Given the description of an element on the screen output the (x, y) to click on. 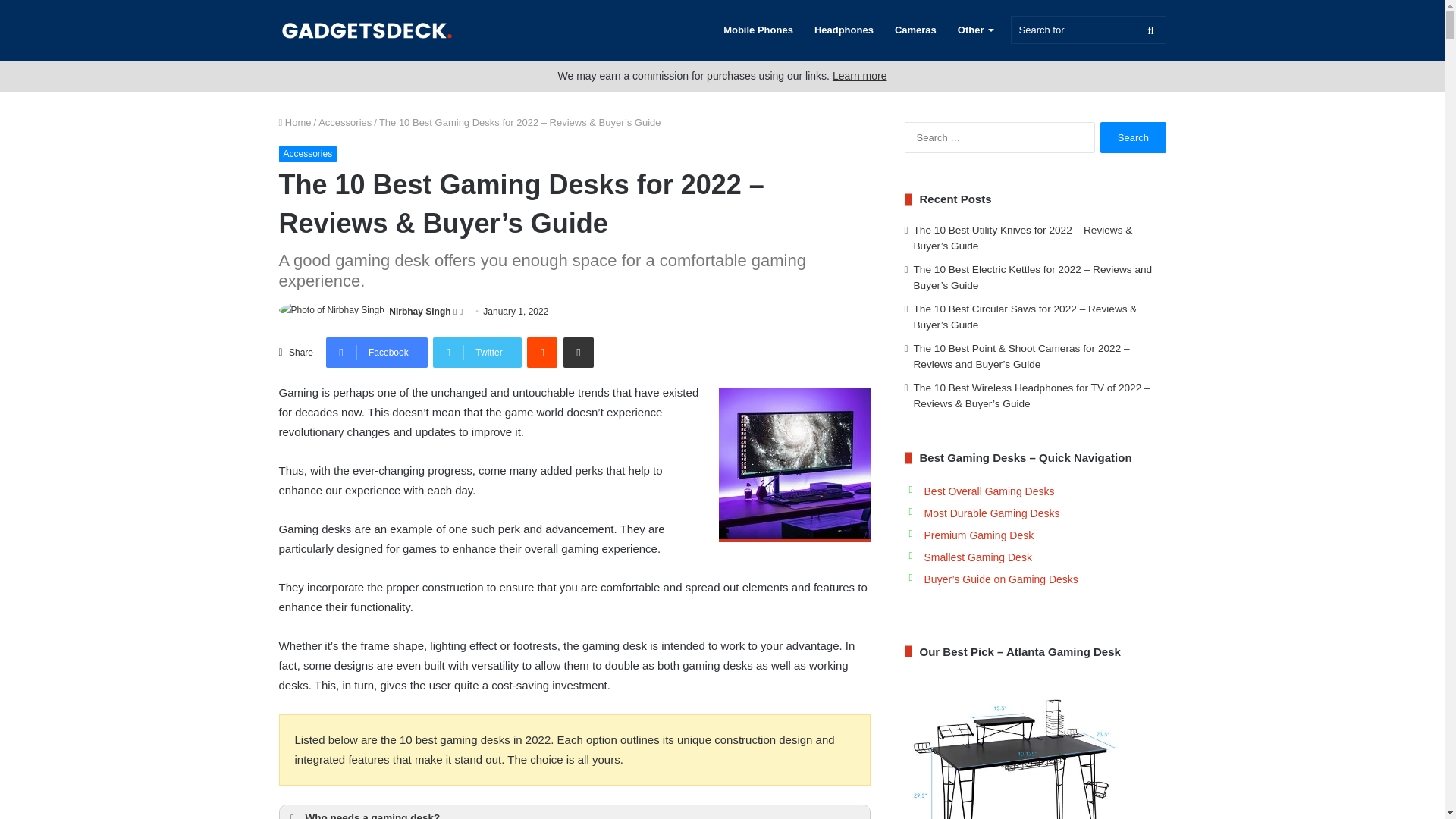
GadgetsDeck (365, 30)
Learn more (859, 75)
Accessories (344, 122)
Cameras (915, 30)
Accessories (308, 153)
Mobile Phones (758, 30)
Search (1133, 137)
Reddit (542, 352)
Facebook (377, 352)
Home (295, 122)
Twitter (476, 352)
Share via Email (578, 352)
Nirbhay Singh (418, 311)
Facebook (377, 352)
Search (1133, 137)
